Given the description of an element on the screen output the (x, y) to click on. 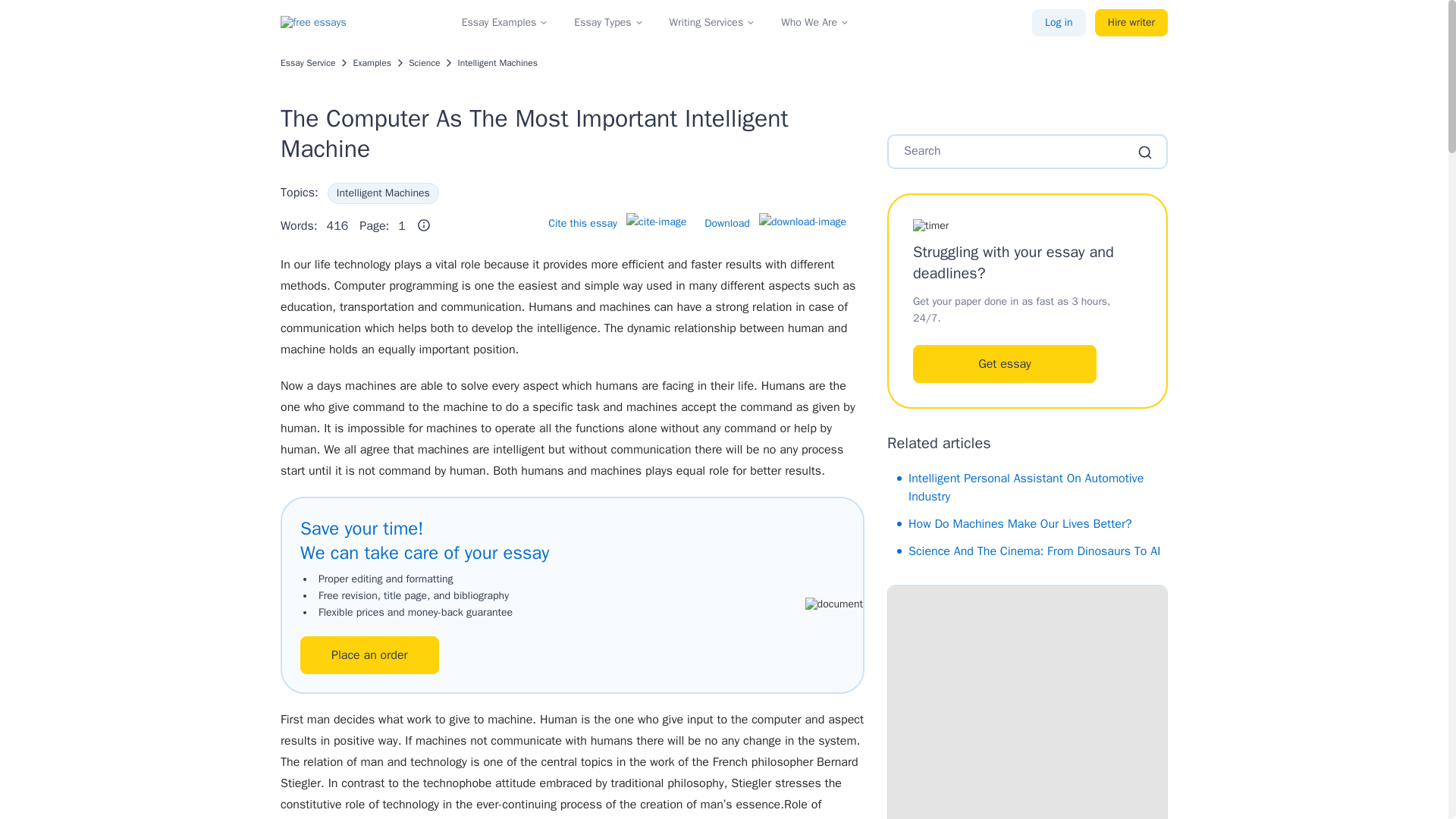
Essay Examples (499, 22)
Essay Types (601, 22)
